Given the description of an element on the screen output the (x, y) to click on. 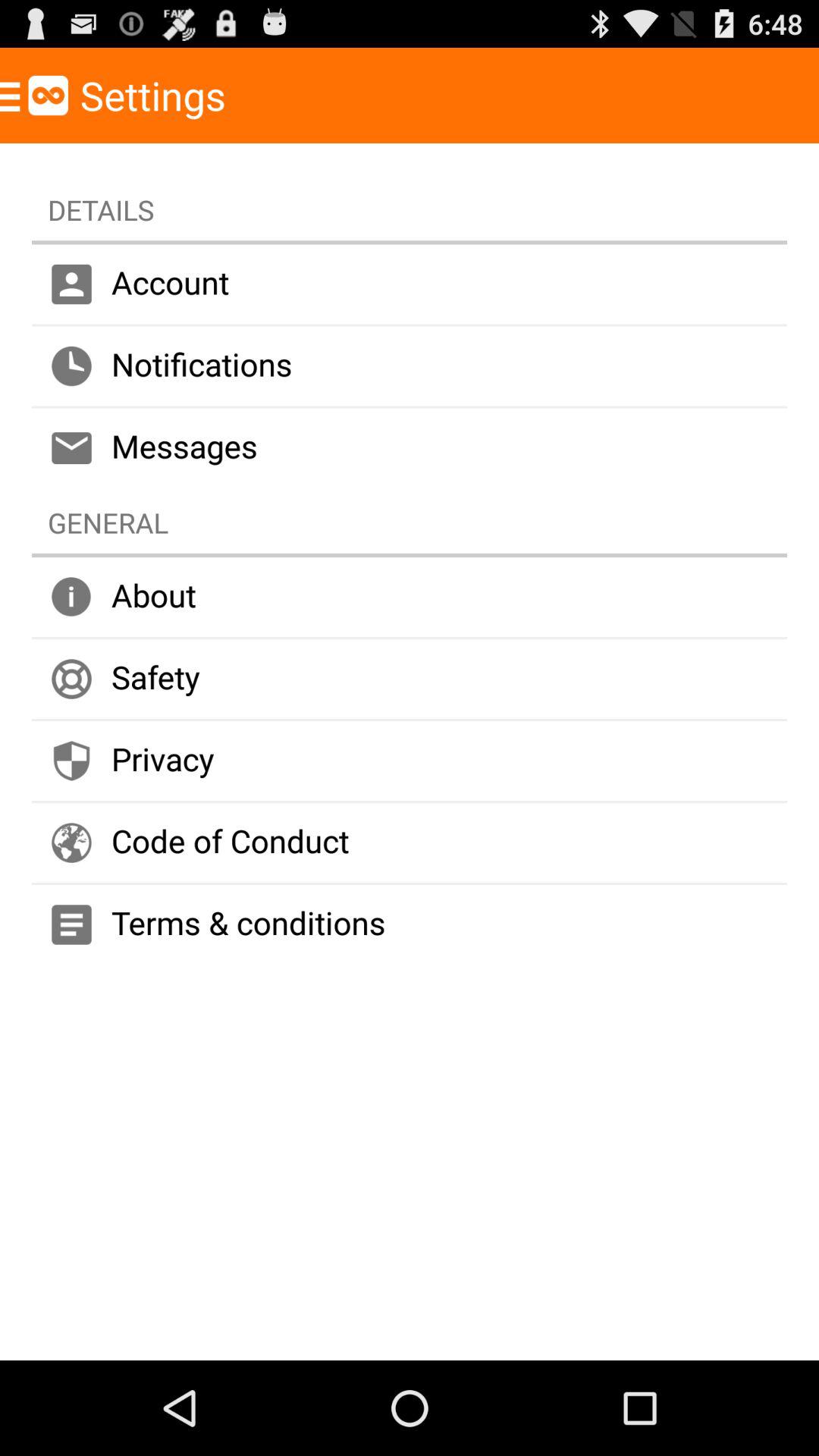
jump to the about (409, 597)
